Given the description of an element on the screen output the (x, y) to click on. 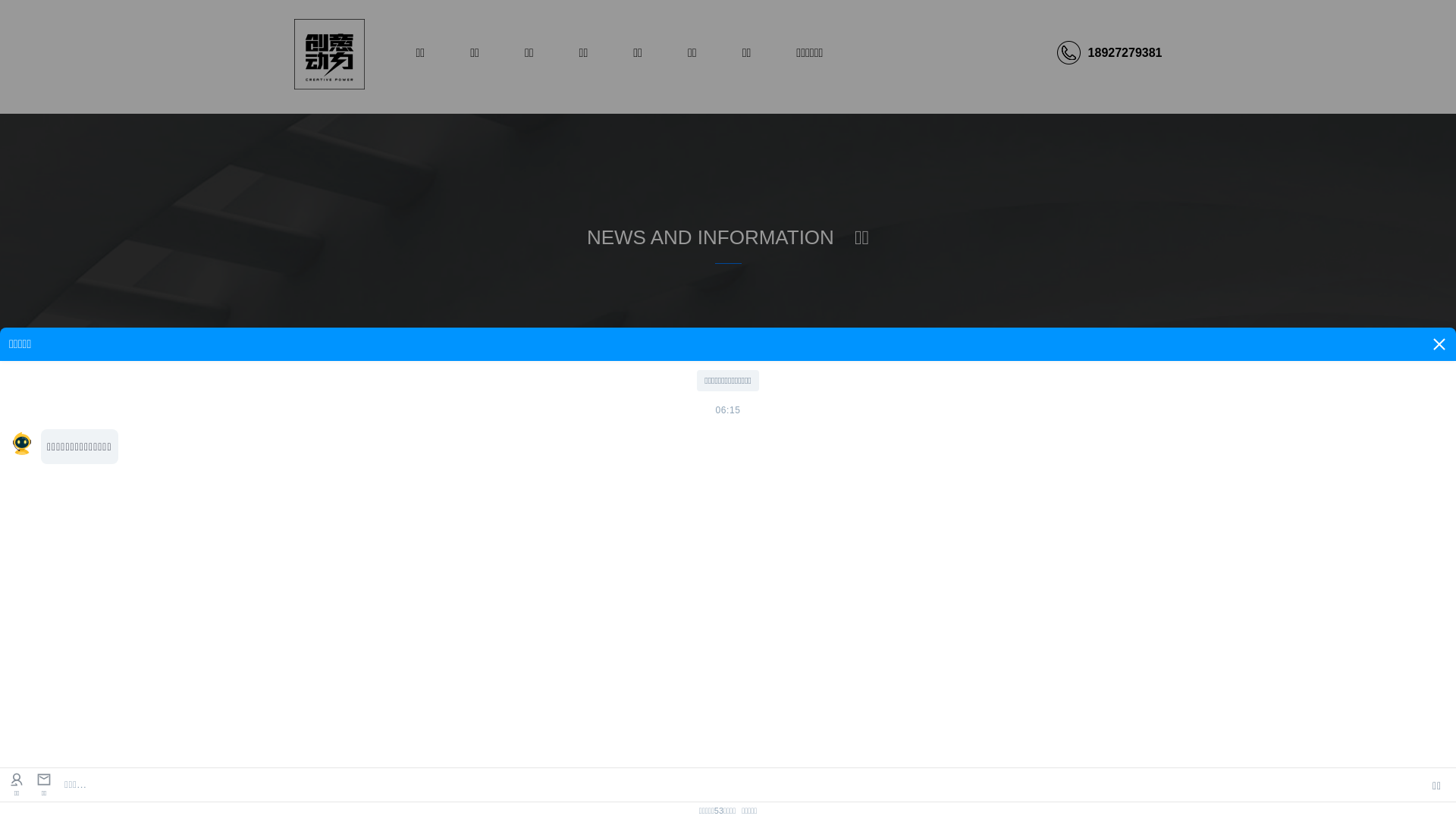
1 Element type: text (1409, 395)
